Given the description of an element on the screen output the (x, y) to click on. 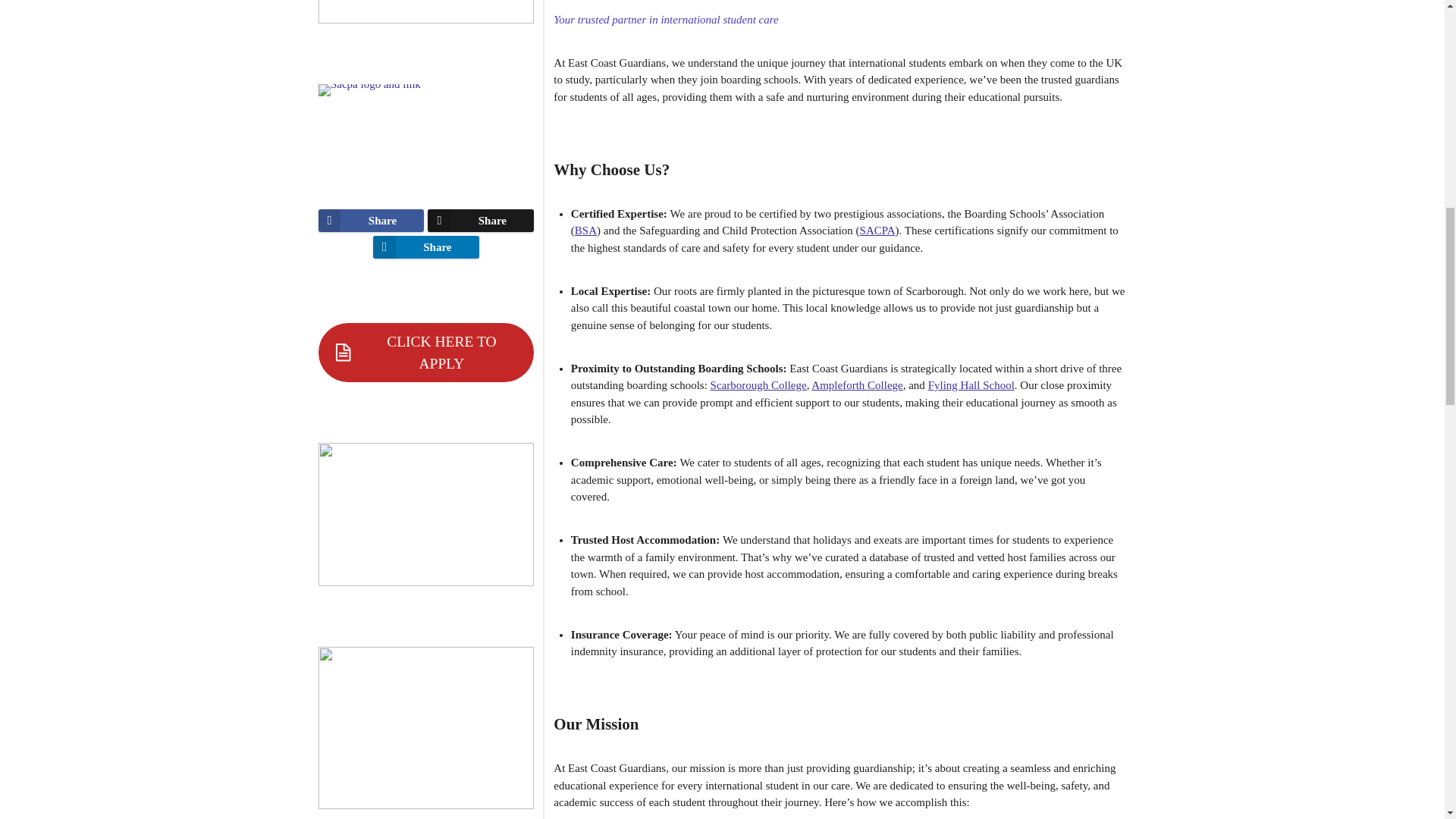
Scarborough College (758, 385)
Share (481, 220)
BSA (585, 230)
CLICK HERE TO APPLY (426, 352)
Share (425, 246)
Share (371, 220)
SACPA (877, 230)
Fyling Hall School (971, 385)
Ampleforth College (856, 385)
